Given the description of an element on the screen output the (x, y) to click on. 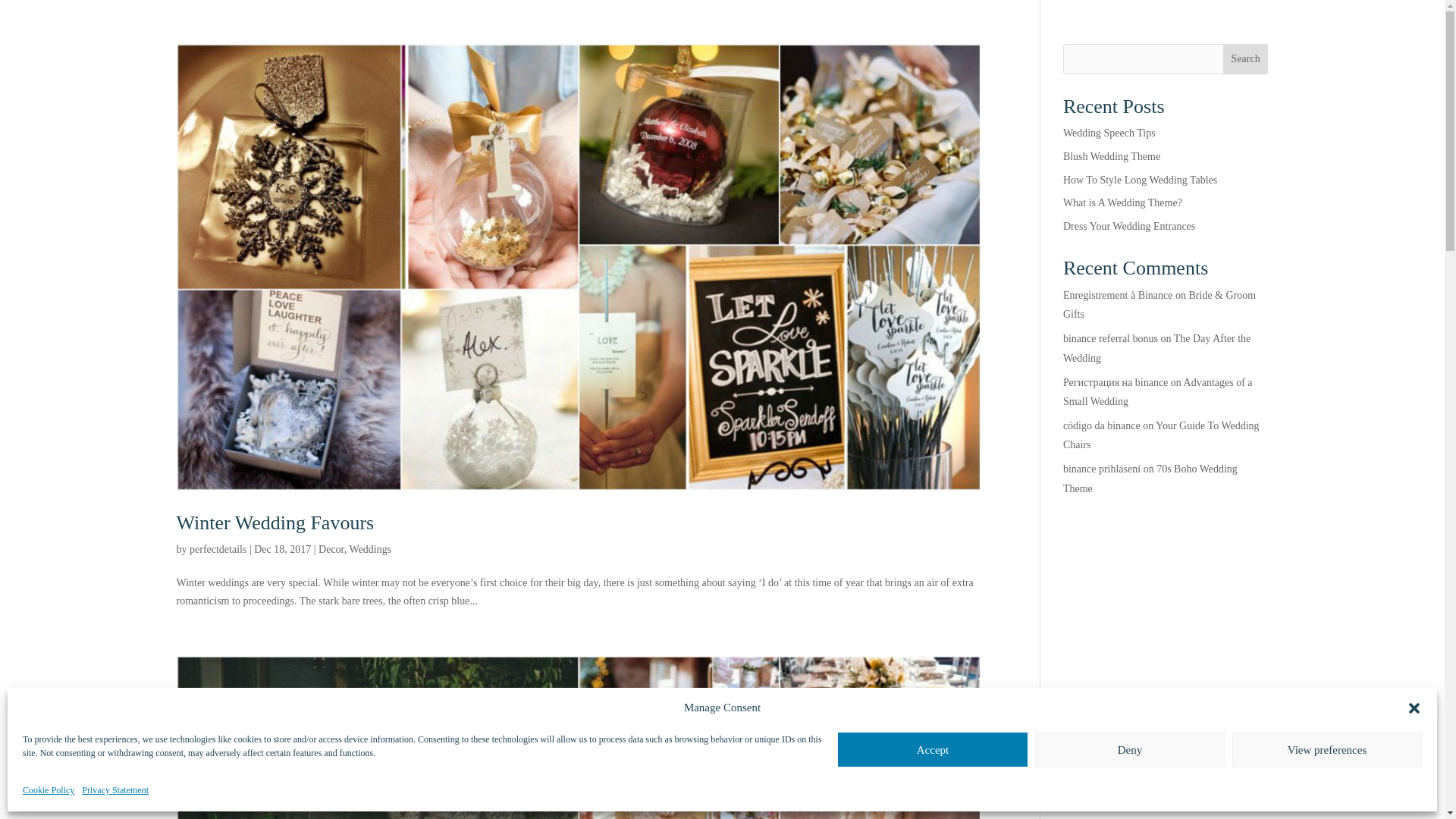
perfectdetails (217, 549)
Deny (1129, 749)
View preferences (1326, 749)
Privacy Statement (114, 791)
Accept (932, 749)
Winter Wedding Favours (275, 522)
Decor (330, 549)
Posts by perfectdetails (217, 549)
Cookie Policy (48, 791)
Weddings (370, 549)
